Given the description of an element on the screen output the (x, y) to click on. 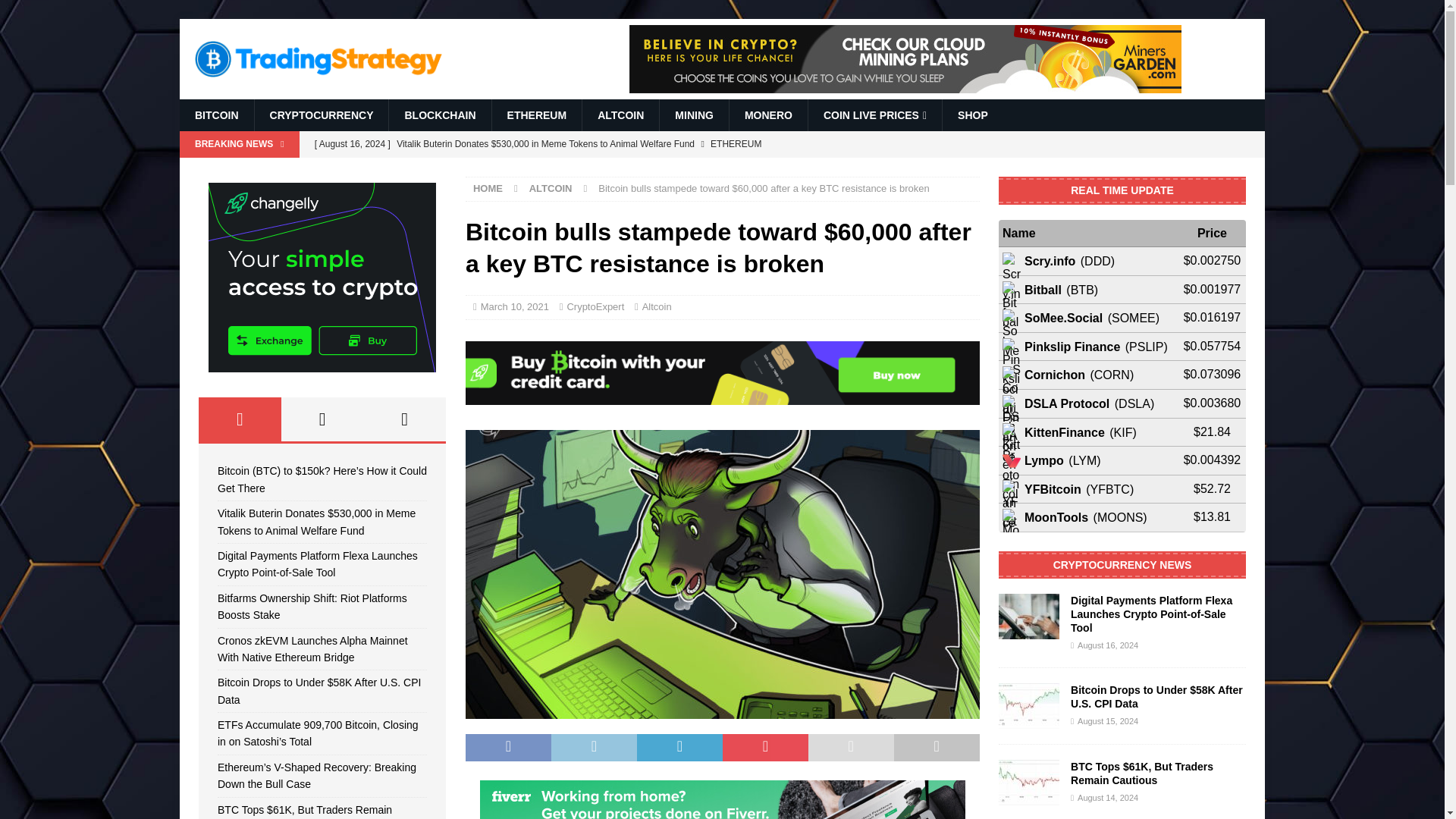
BLOCKCHAIN (439, 115)
SHOP (972, 115)
COIN LIVE PRICES (875, 115)
MINING (694, 115)
ALTCOIN (619, 115)
MONERO (768, 115)
ETHEREUM (537, 115)
BITCOIN (216, 115)
CRYPTOCURRENCY (320, 115)
